Given the description of an element on the screen output the (x, y) to click on. 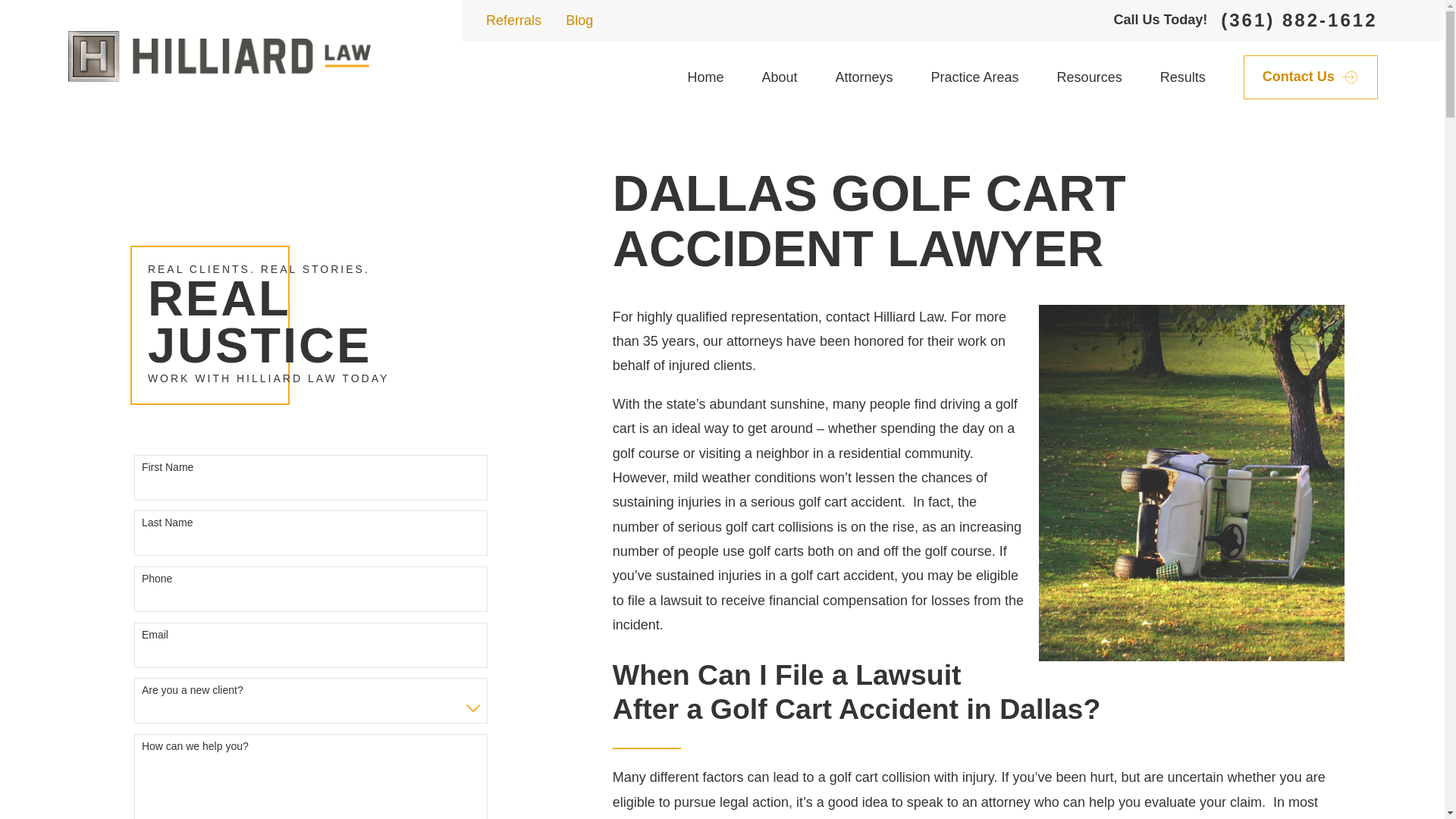
About (778, 77)
Home (705, 77)
Referrals (513, 20)
Blog (579, 20)
Home (217, 55)
Attorneys (864, 77)
